Given the description of an element on the screen output the (x, y) to click on. 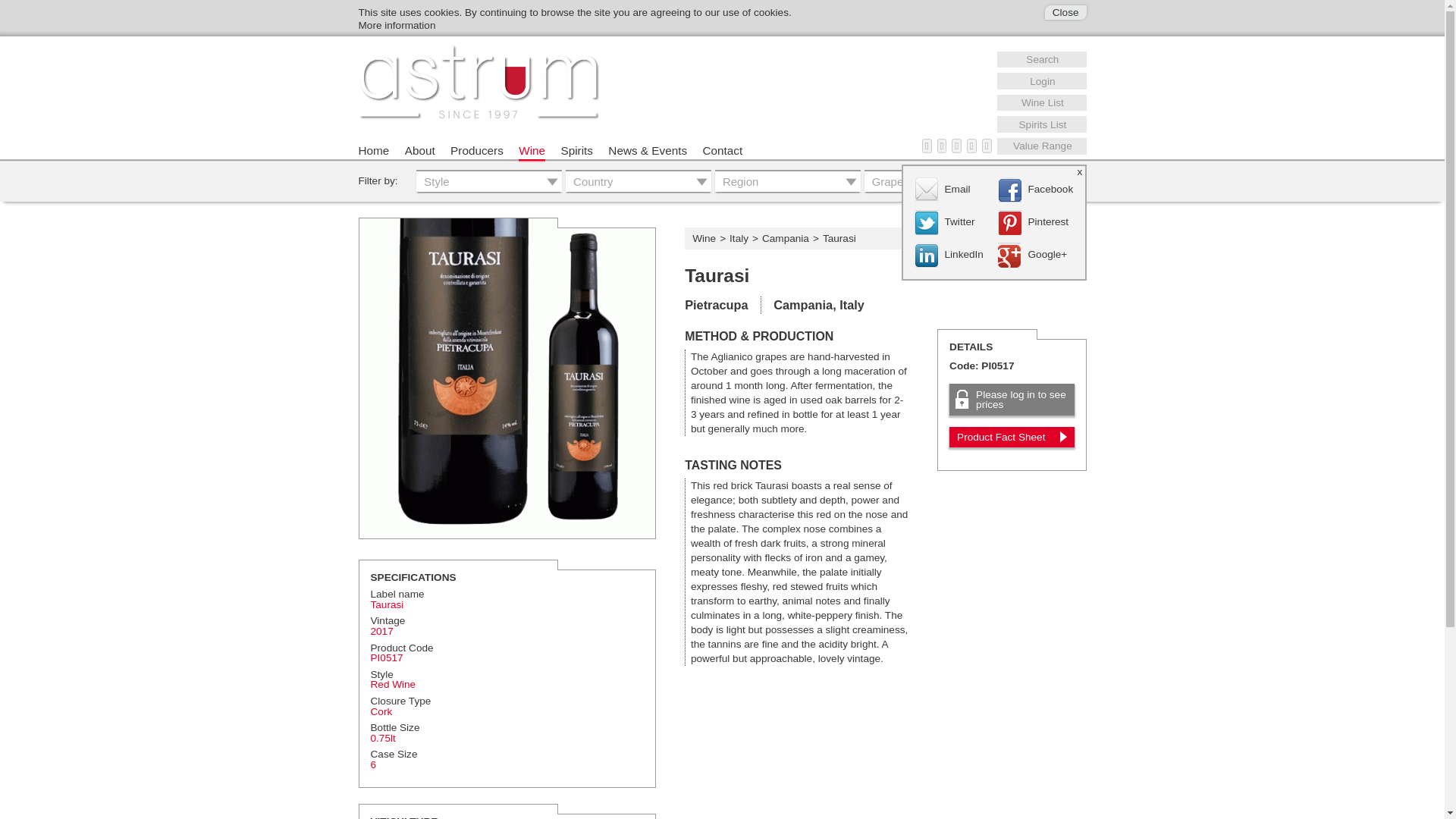
Login (1043, 80)
Home (373, 152)
Close (1065, 11)
Pinterest (1035, 222)
Search (1043, 59)
Wine List (1043, 103)
Value Range (1043, 146)
About (419, 152)
LinkedIn (952, 254)
Twitter (952, 222)
More information (396, 25)
Email (952, 188)
Go (1049, 180)
Spirits (576, 152)
x (1080, 169)
